Given the description of an element on the screen output the (x, y) to click on. 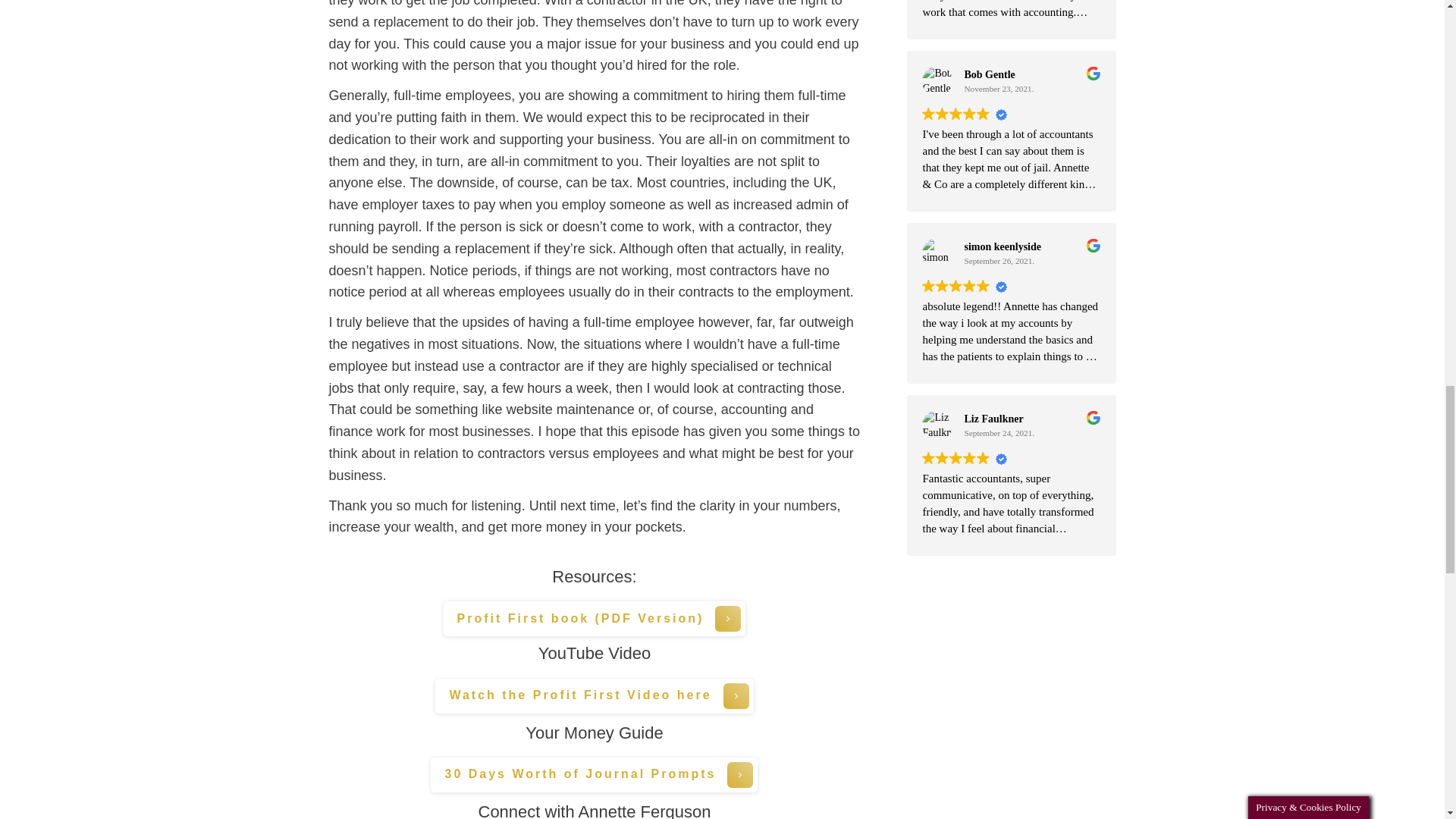
Watch the Profit First Video here (593, 695)
30 Days Worth of Journal Prompts (593, 774)
